Given the description of an element on the screen output the (x, y) to click on. 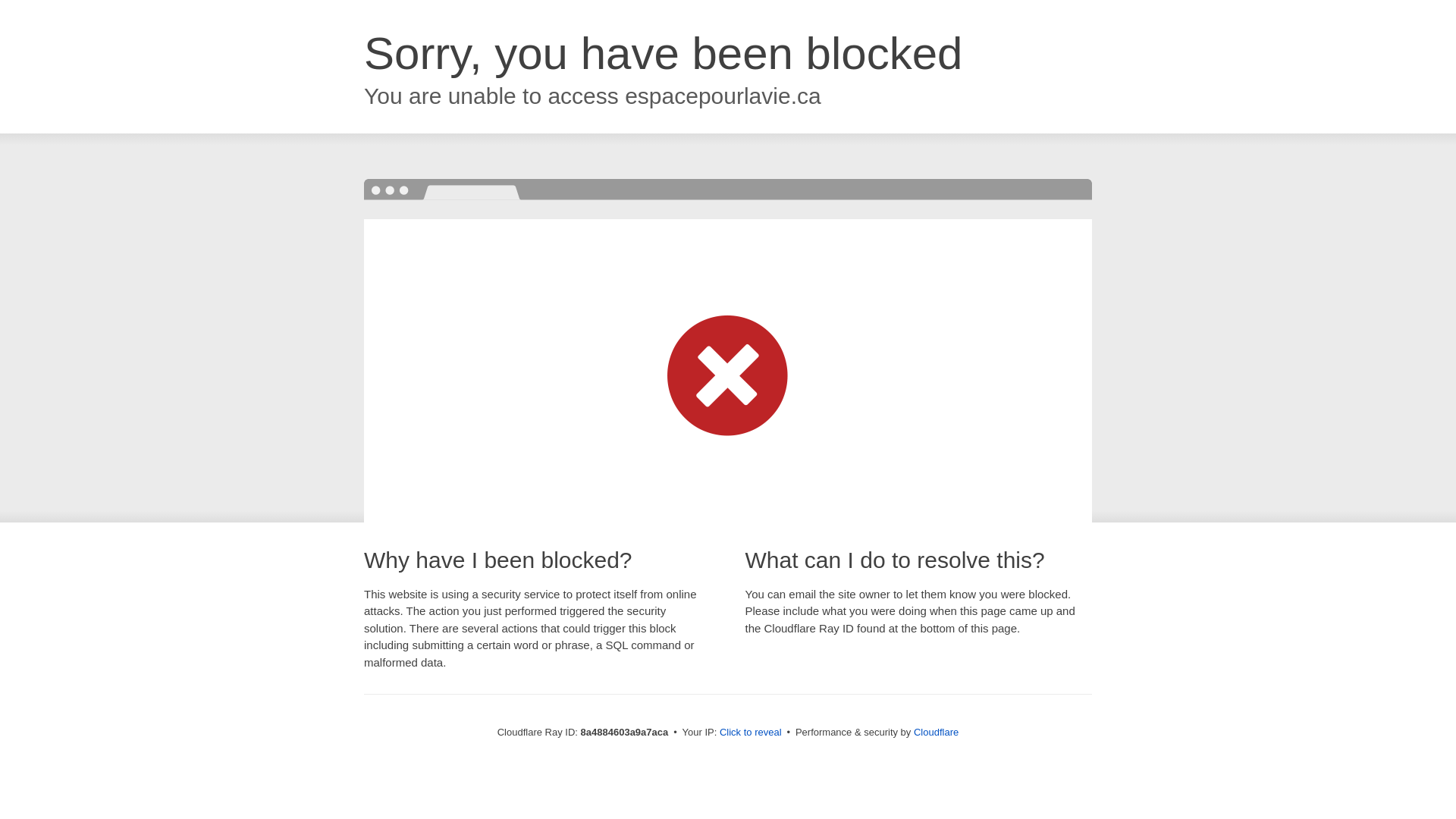
Cloudflare (936, 731)
Click to reveal (750, 732)
